Given the description of an element on the screen output the (x, y) to click on. 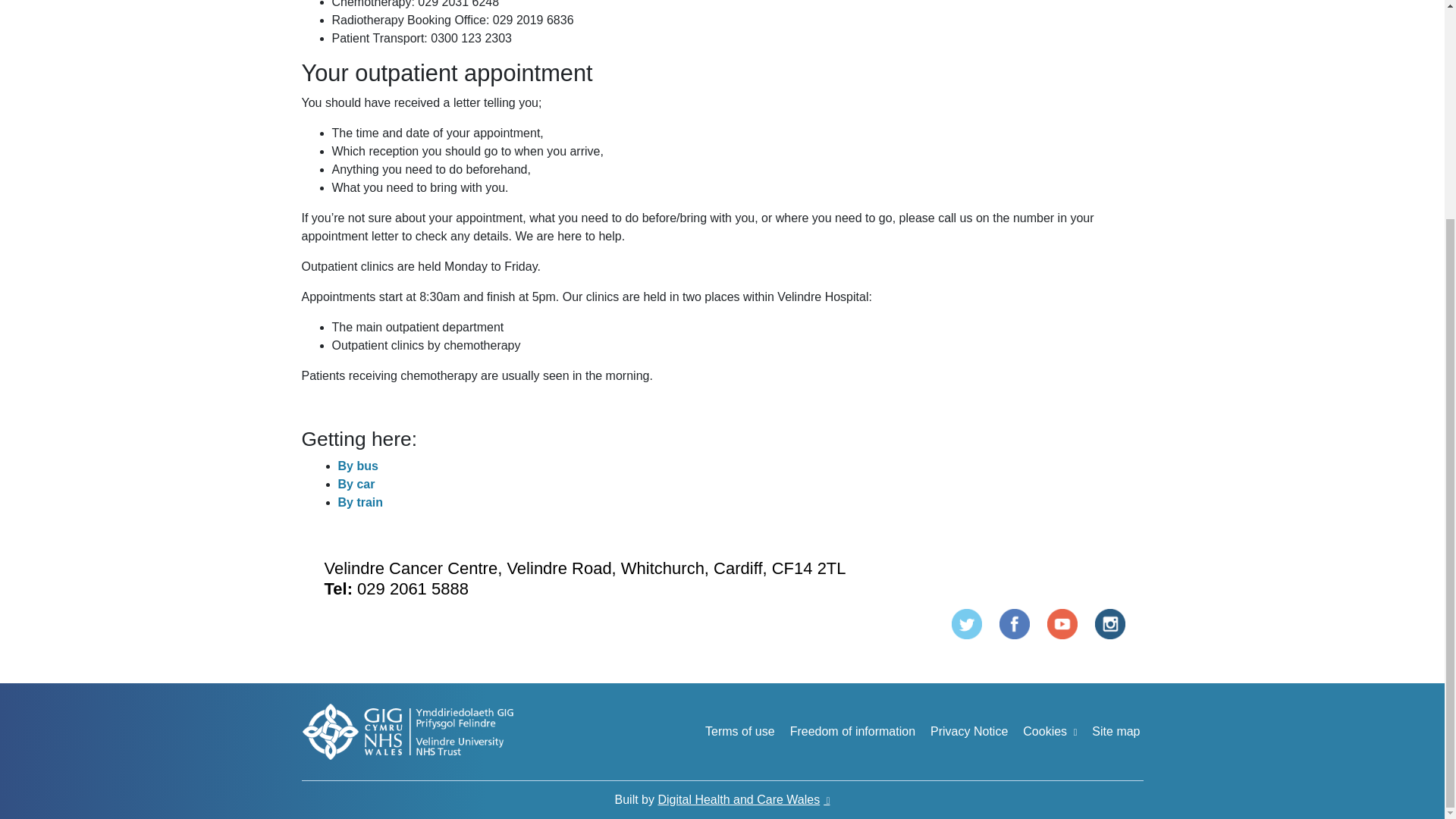
Outpatients (1013, 624)
Outpatients (1061, 624)
Outpatients (965, 624)
Outpatients (1110, 624)
